Given the description of an element on the screen output the (x, y) to click on. 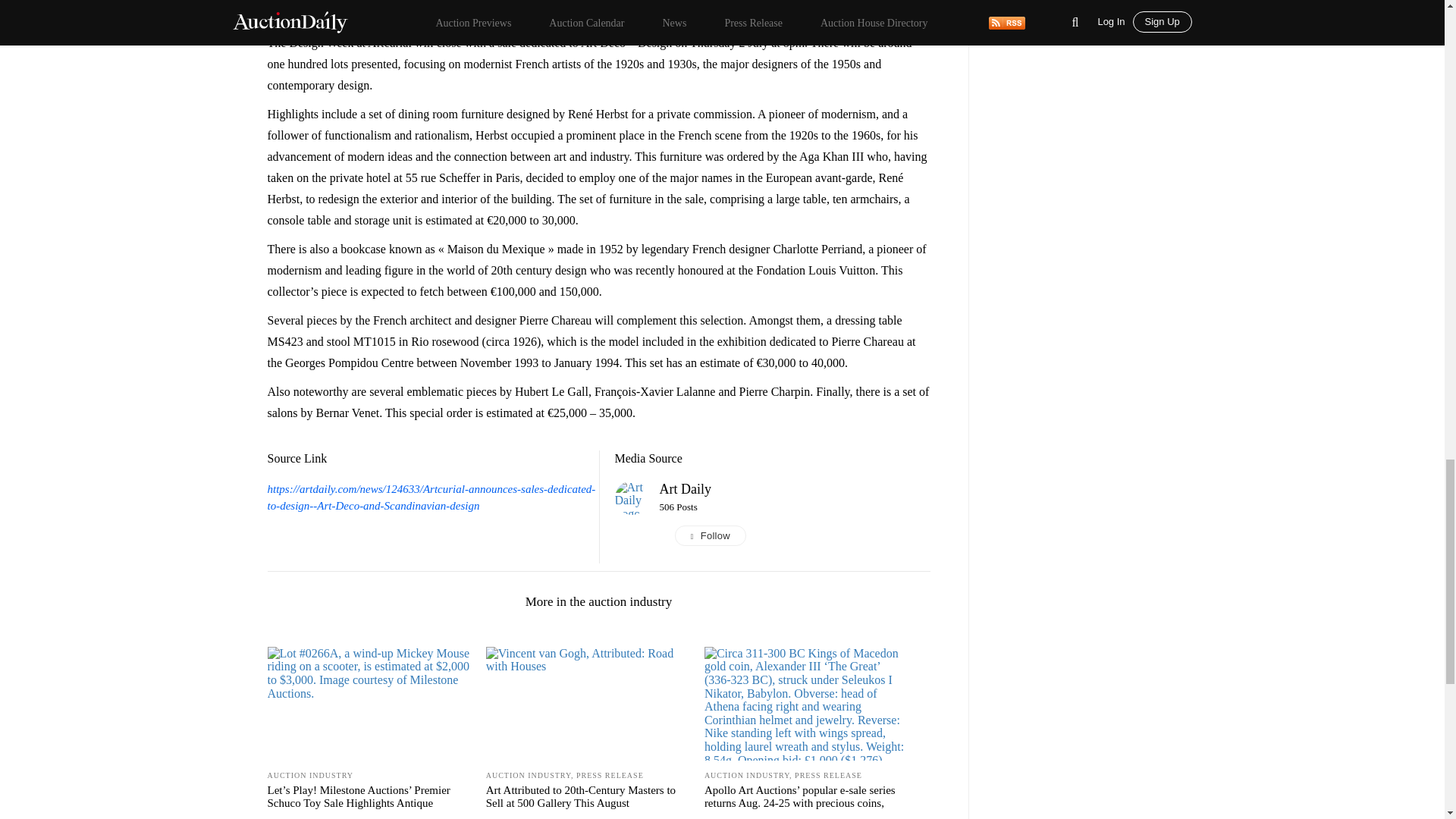
Follow (795, 536)
Art Daily (685, 488)
View Media Source (685, 488)
